Given the description of an element on the screen output the (x, y) to click on. 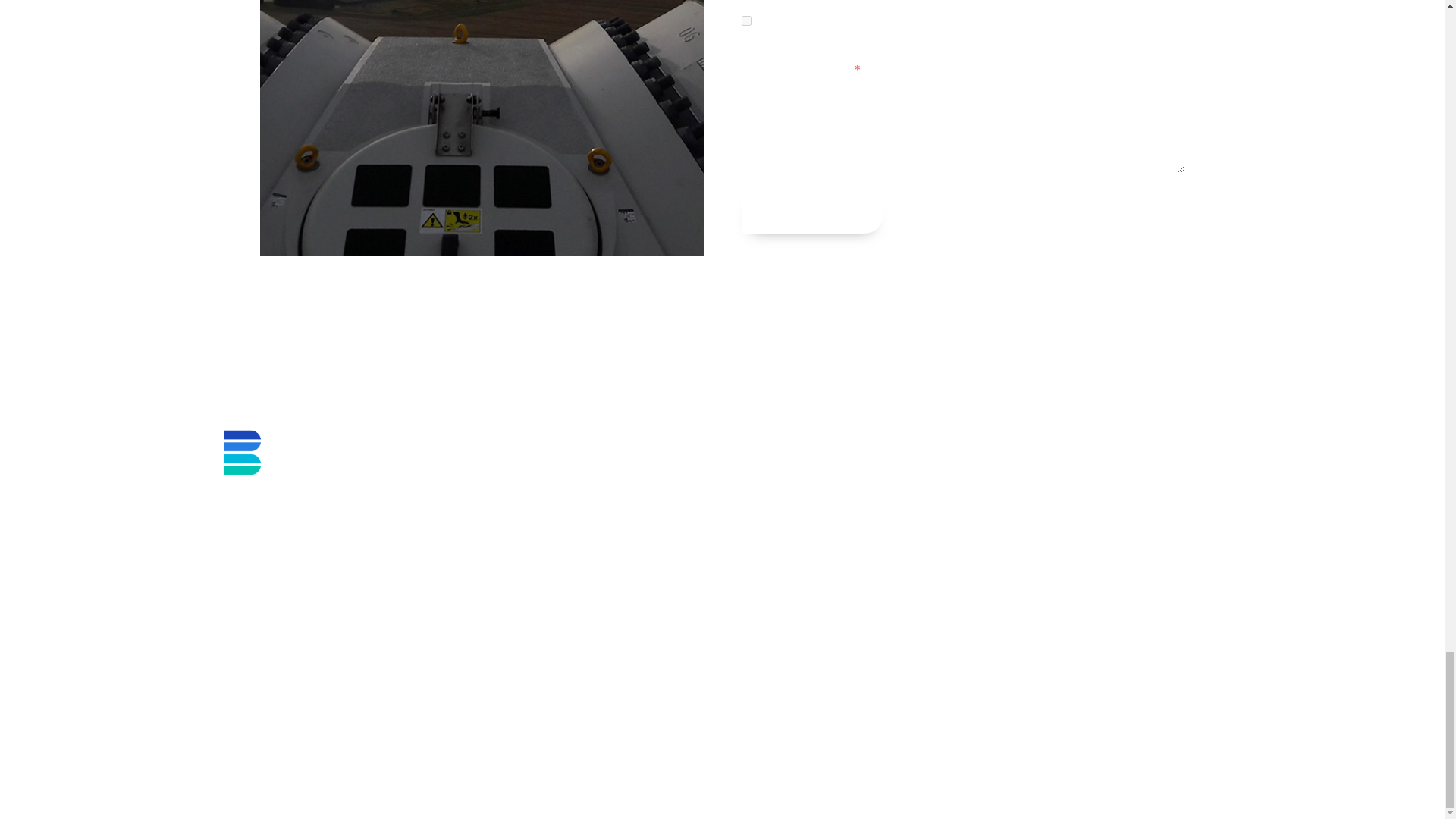
Hire (746, 20)
